Given the description of an element on the screen output the (x, y) to click on. 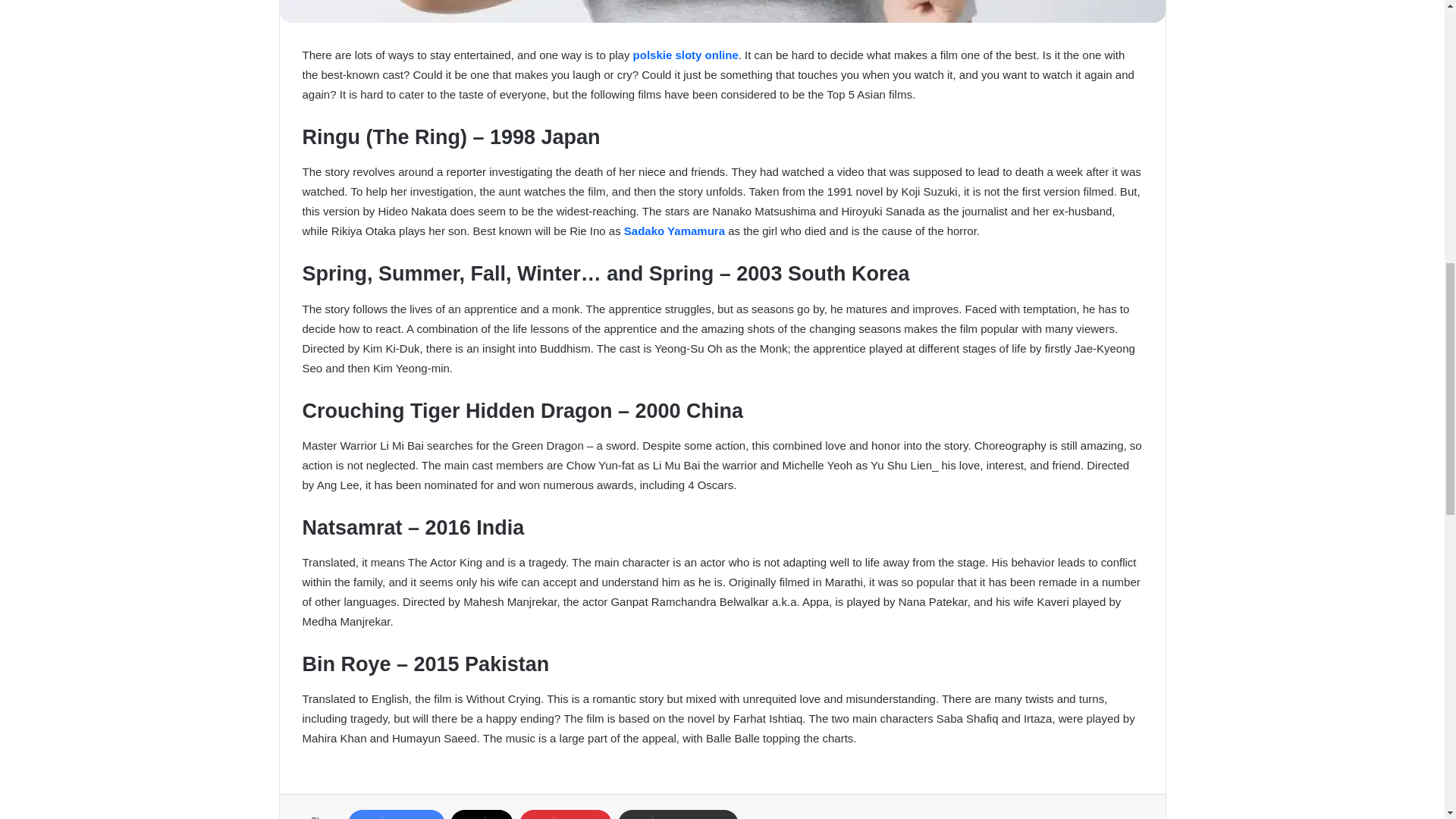
X (481, 814)
Facebook (396, 814)
Pinterest (565, 814)
